Given the description of an element on the screen output the (x, y) to click on. 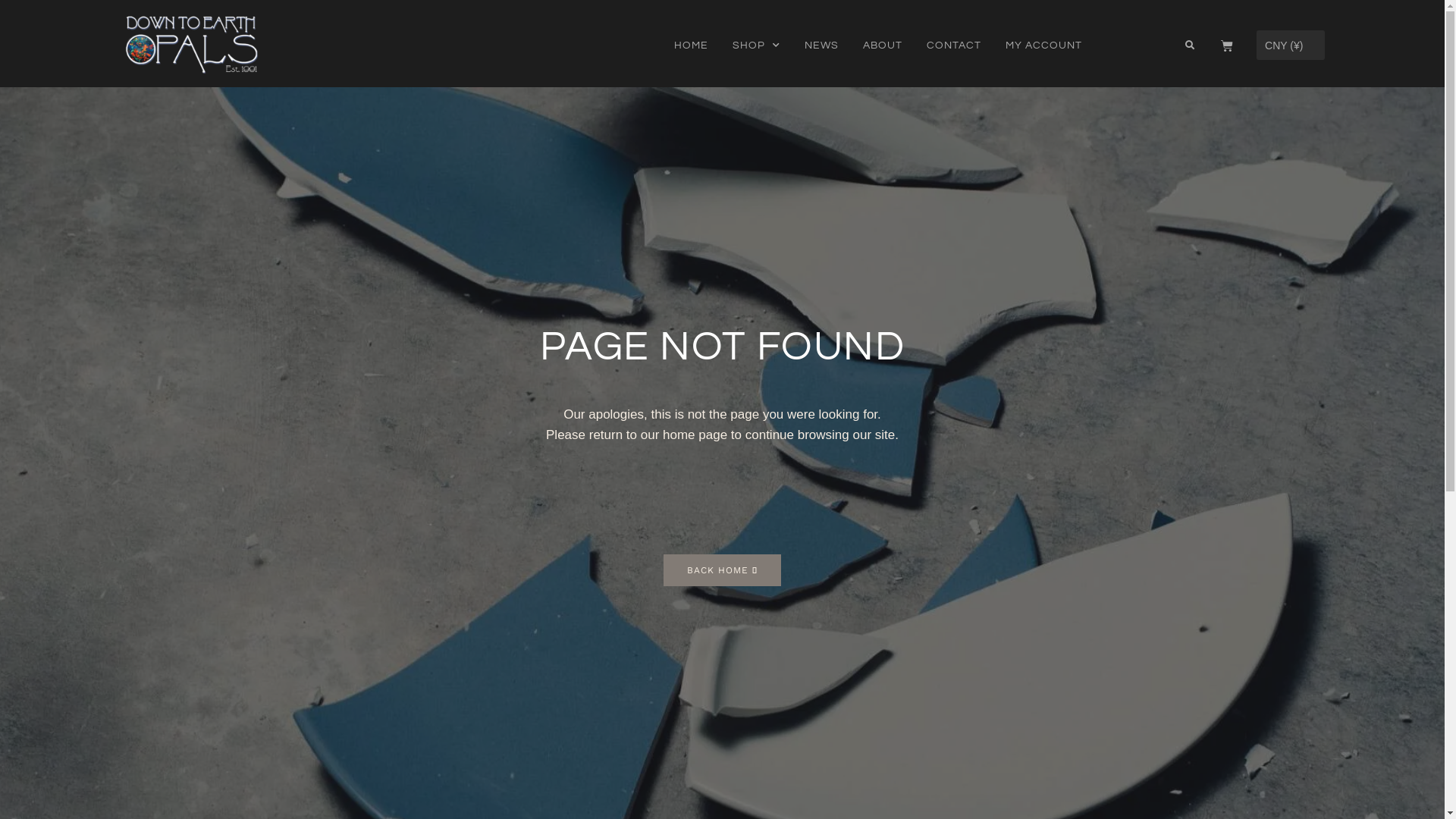
CART Element type: text (1227, 45)
MY ACCOUNT Element type: text (1043, 45)
NEWS Element type: text (821, 45)
CONTACT Element type: text (953, 45)
HOME Element type: text (691, 45)
SHOP Element type: text (756, 45)
ABOUT Element type: text (882, 45)
